Given the description of an element on the screen output the (x, y) to click on. 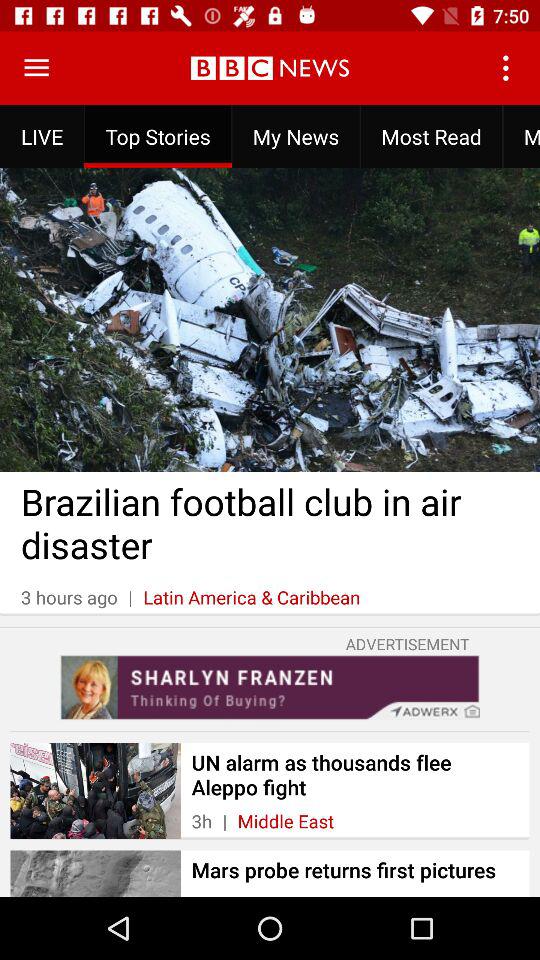
advertisement page (270, 687)
